Given the description of an element on the screen output the (x, y) to click on. 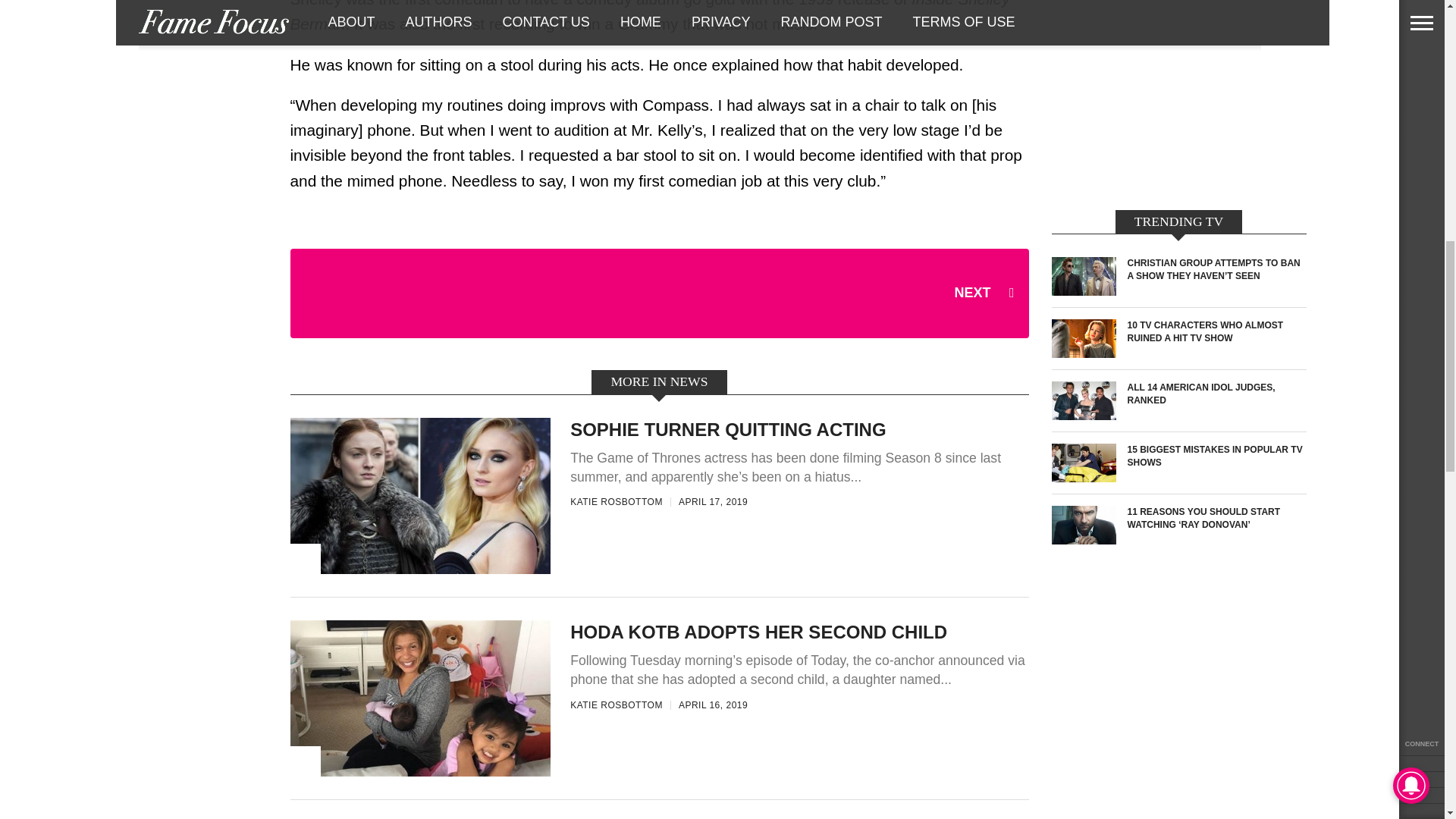
Sophie Turner Quitting Acting (419, 569)
Advertisement (1178, 101)
